Given the description of an element on the screen output the (x, y) to click on. 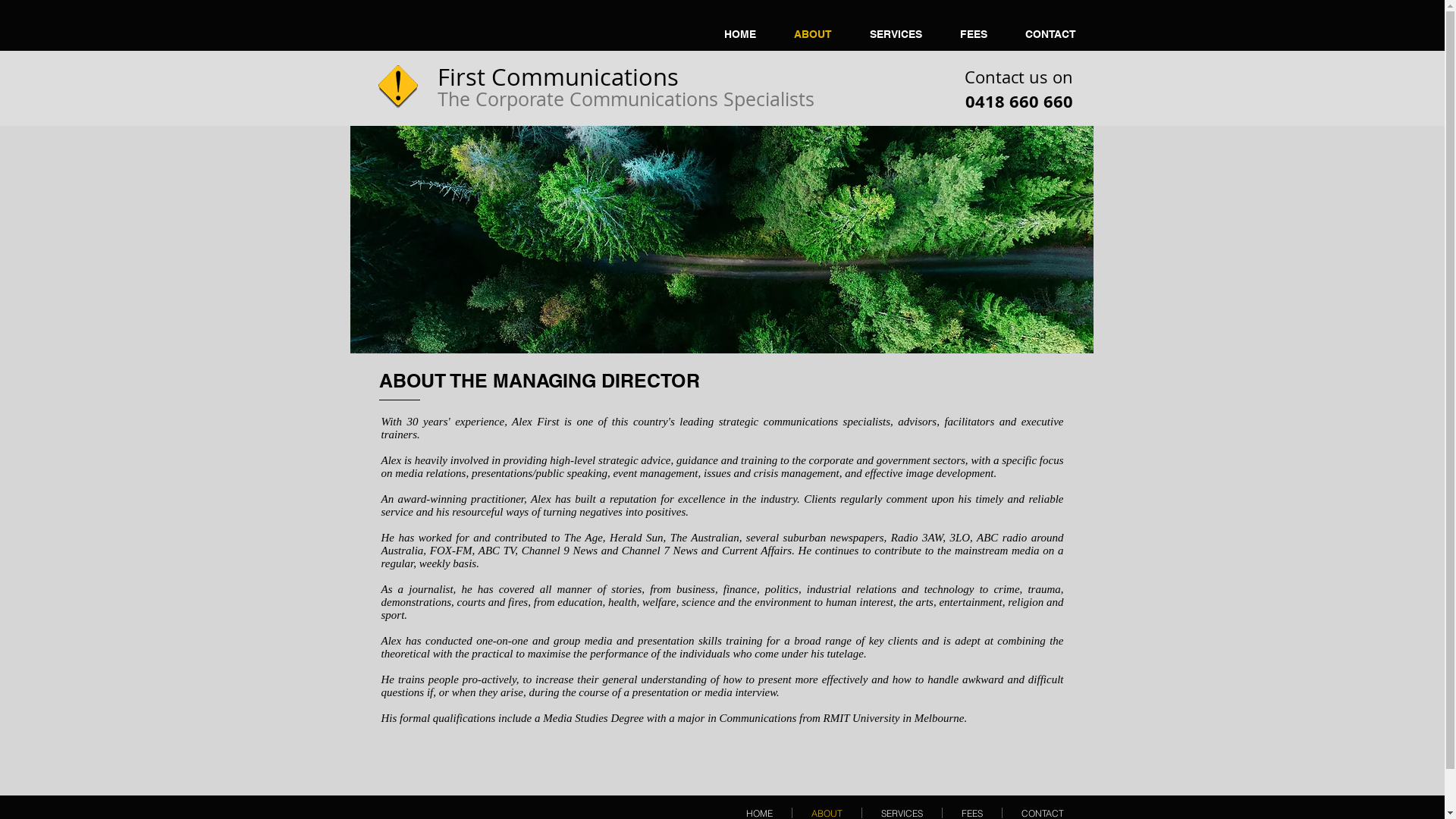
maroon-lake.jpg Element type: hover (721, 239)
SERVICES Element type: text (901, 812)
CONTACT Element type: text (1049, 33)
ABOUT Element type: text (812, 33)
HOME Element type: text (758, 812)
FEES Element type: text (971, 812)
SERVICES Element type: text (895, 33)
ABOUT Element type: text (825, 812)
CONTACT Element type: text (1042, 812)
HOME Element type: text (740, 33)
FEES Element type: text (972, 33)
